Given the description of an element on the screen output the (x, y) to click on. 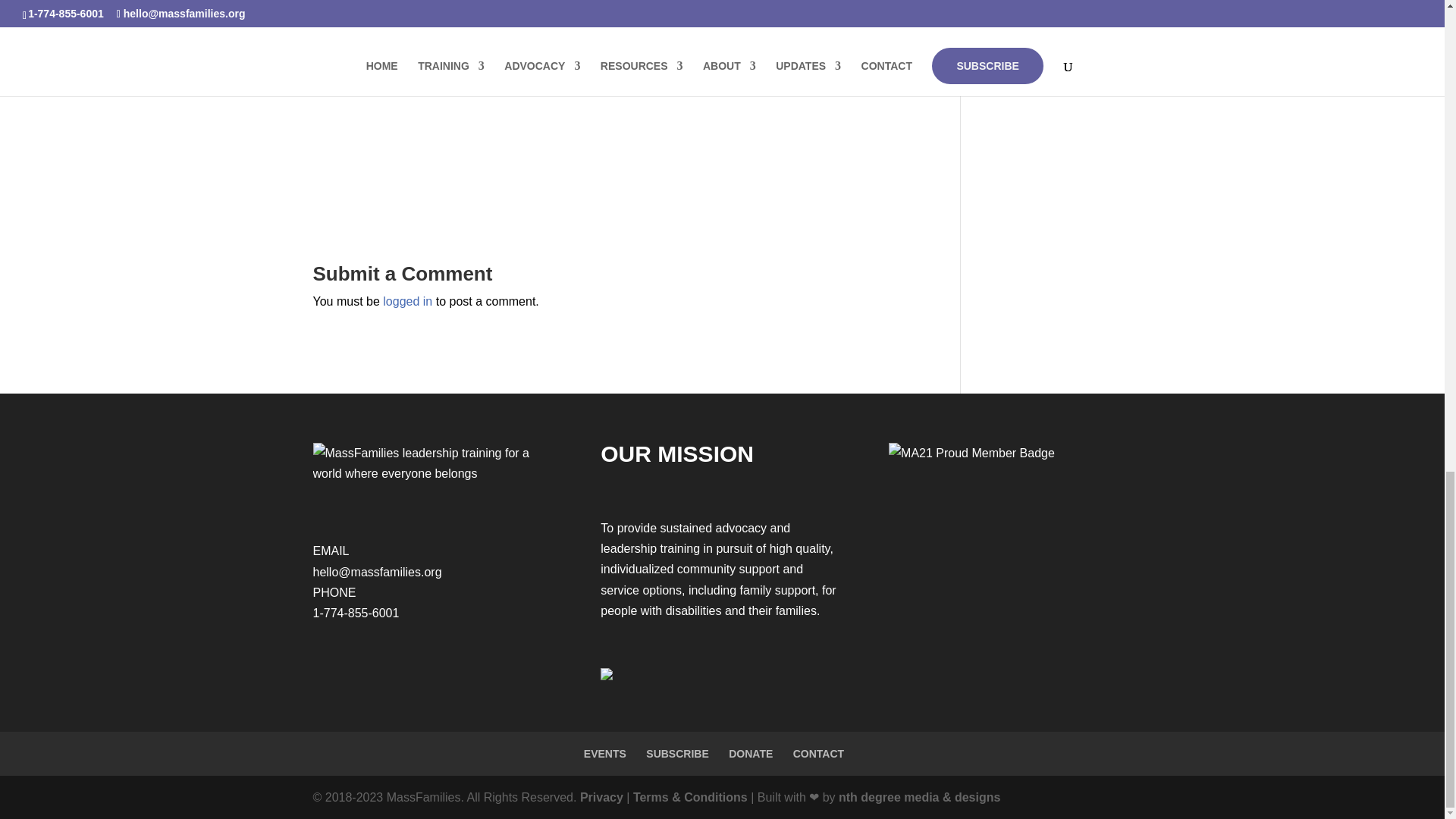
CONTACT (818, 753)
logged in (407, 300)
EVENTS (604, 753)
SUBSCRIBE (676, 753)
DONATE (751, 753)
